Given the description of an element on the screen output the (x, y) to click on. 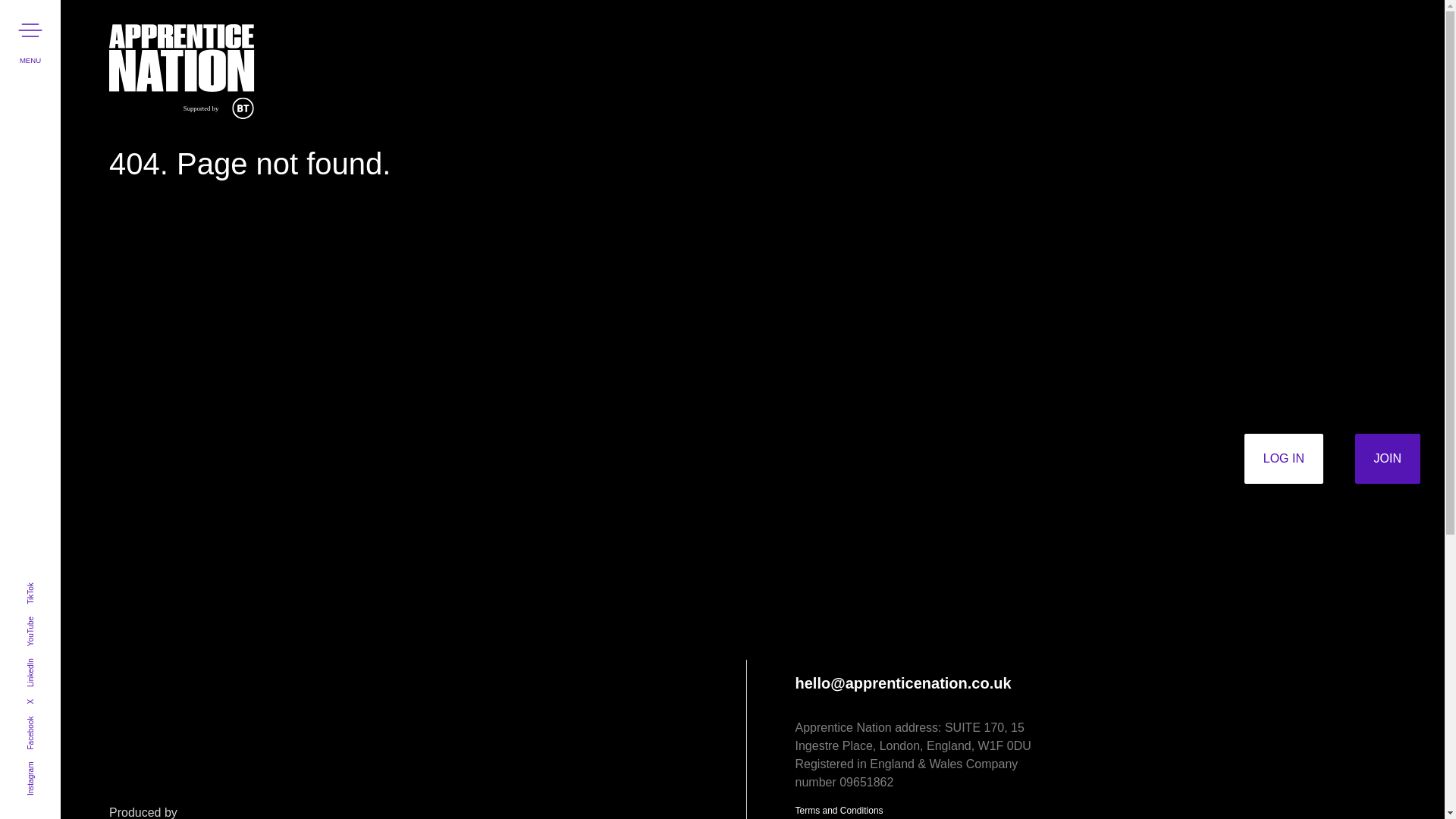
JOIN (1388, 459)
Terms and Conditions (838, 812)
Supported by (181, 71)
TikTok (37, 586)
Supported by (157, 71)
YouTube (40, 620)
LOG IN (1283, 459)
MENU (29, 30)
Instagram (42, 766)
LinkedIn (40, 662)
Facebook (42, 720)
